Given the description of an element on the screen output the (x, y) to click on. 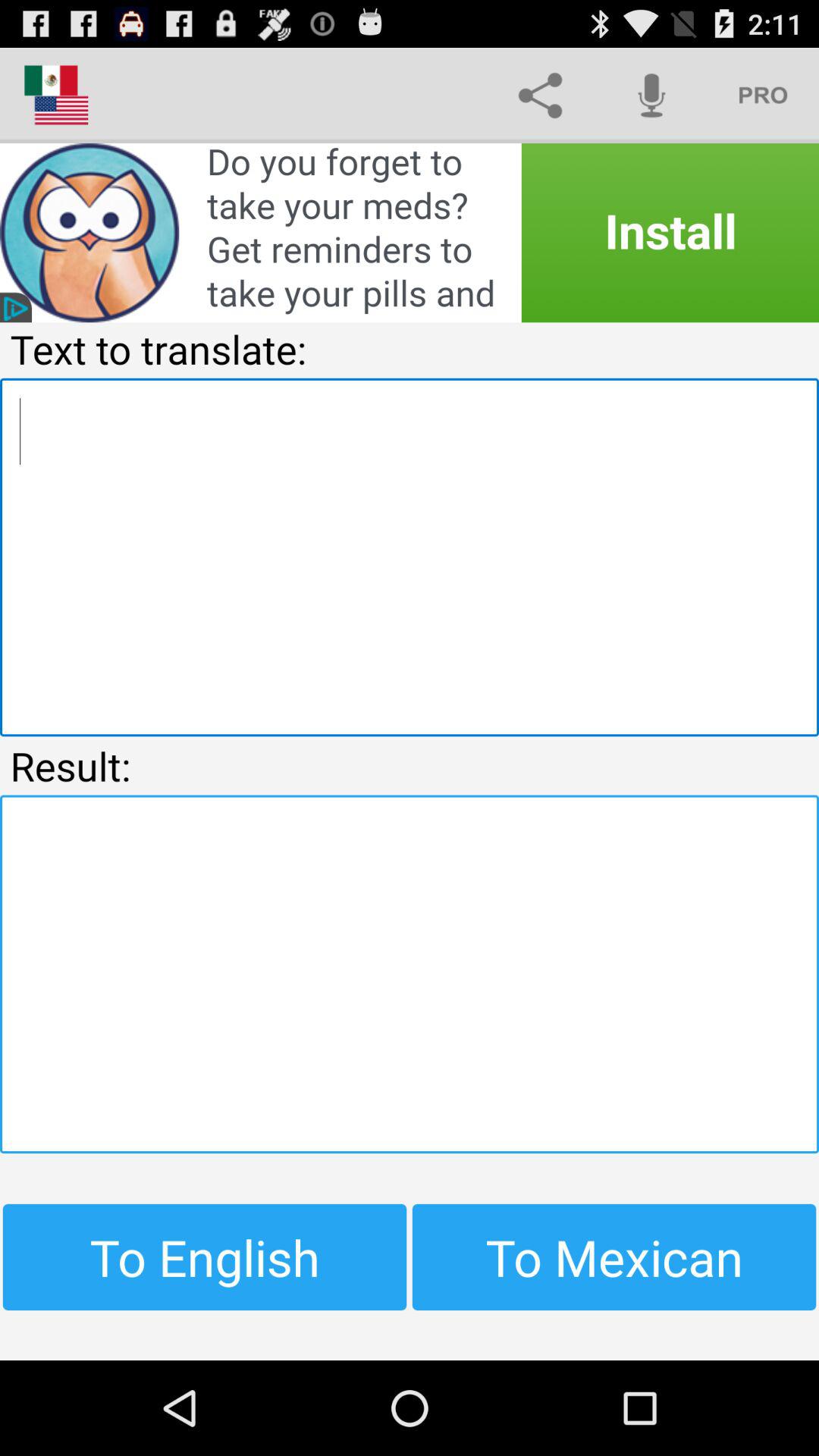
scroll until the to english item (204, 1257)
